Given the description of an element on the screen output the (x, y) to click on. 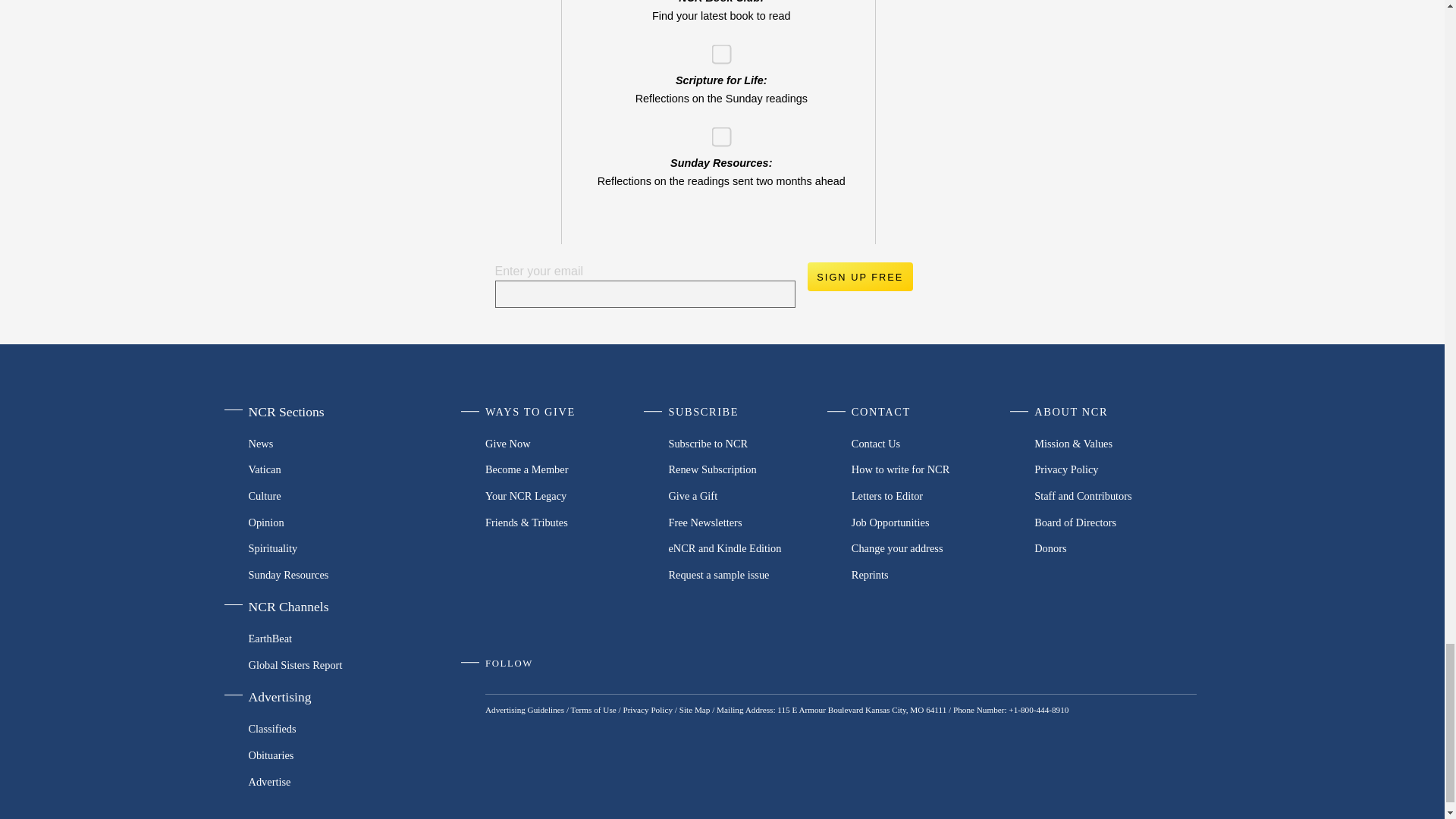
Request a reprint of NCR content (932, 574)
How to write for NCR (932, 469)
Sign up free (859, 276)
Advertise with NCR (324, 781)
dfa4c56aff (715, 132)
c25324053e (715, 49)
Request a sample issue of NCR (748, 574)
Donors (1114, 548)
Change your address (932, 548)
